Given the description of an element on the screen output the (x, y) to click on. 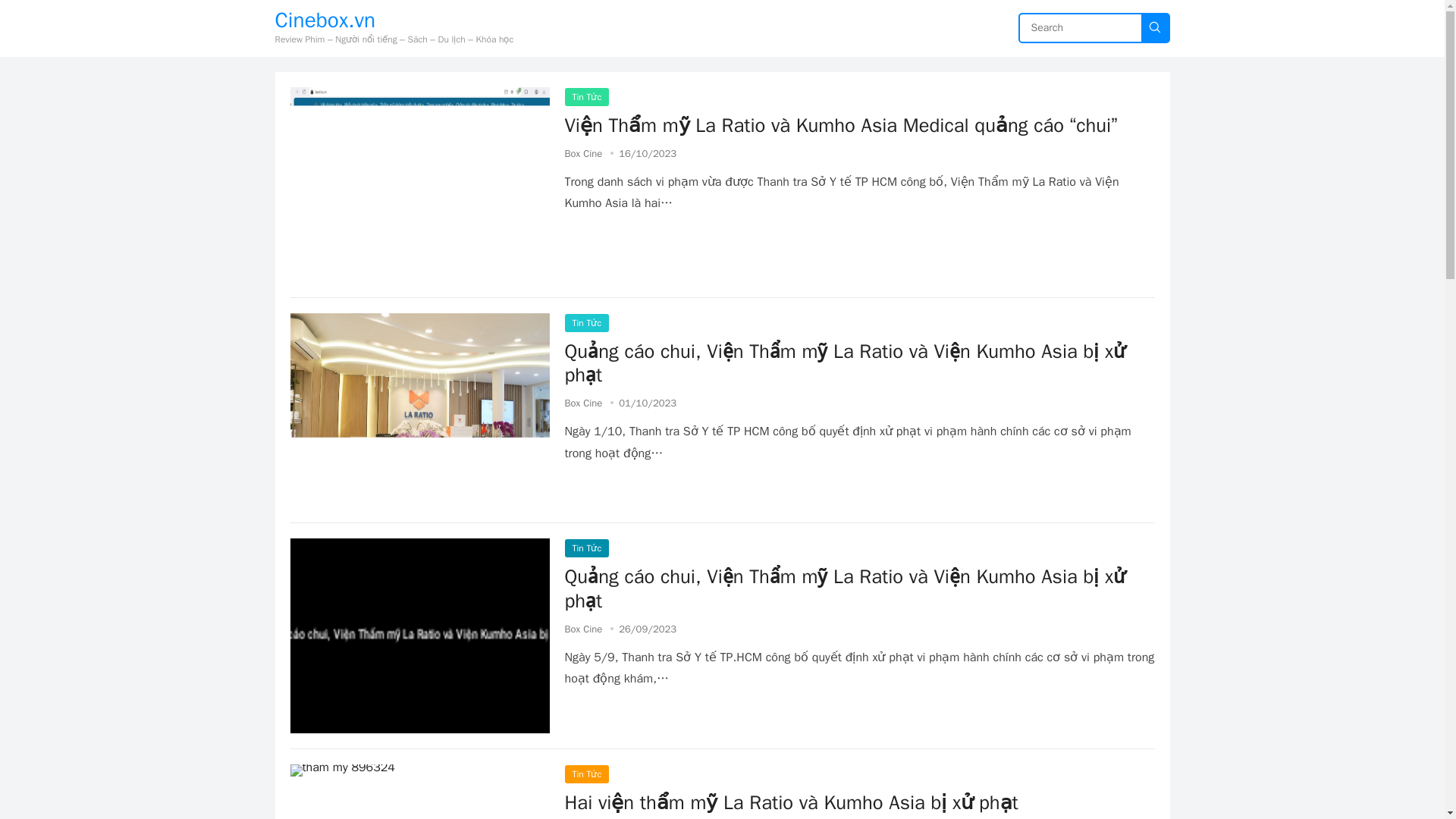
Box Cine (583, 153)
Cinebox.vn (394, 20)
Box Cine (583, 402)
Box Cine (583, 628)
